Given the description of an element on the screen output the (x, y) to click on. 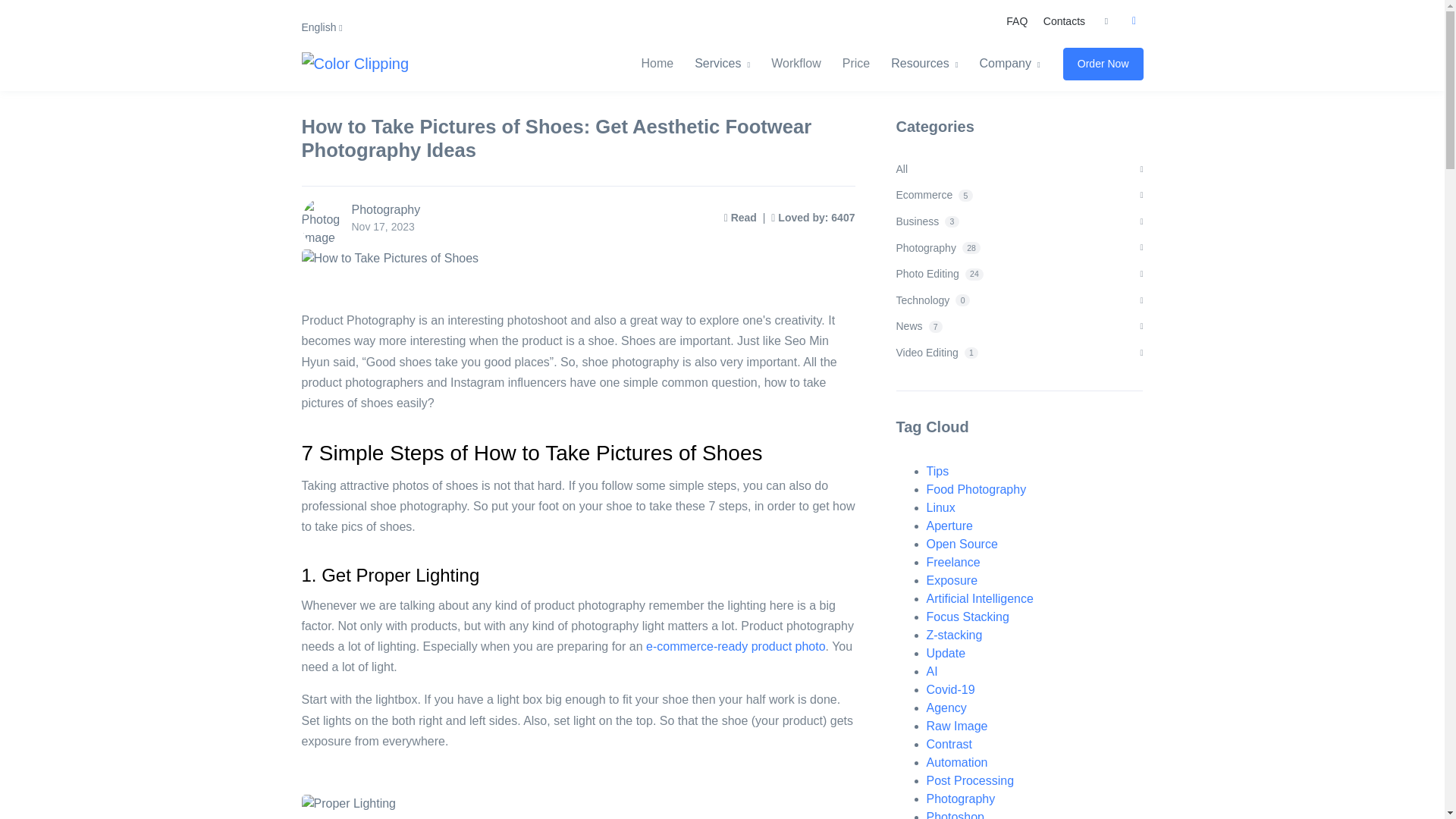
Contacts (1063, 21)
Home (662, 63)
Price (855, 63)
Services (722, 63)
English (321, 27)
FAQ (1016, 21)
Workflow (795, 63)
